Given the description of an element on the screen output the (x, y) to click on. 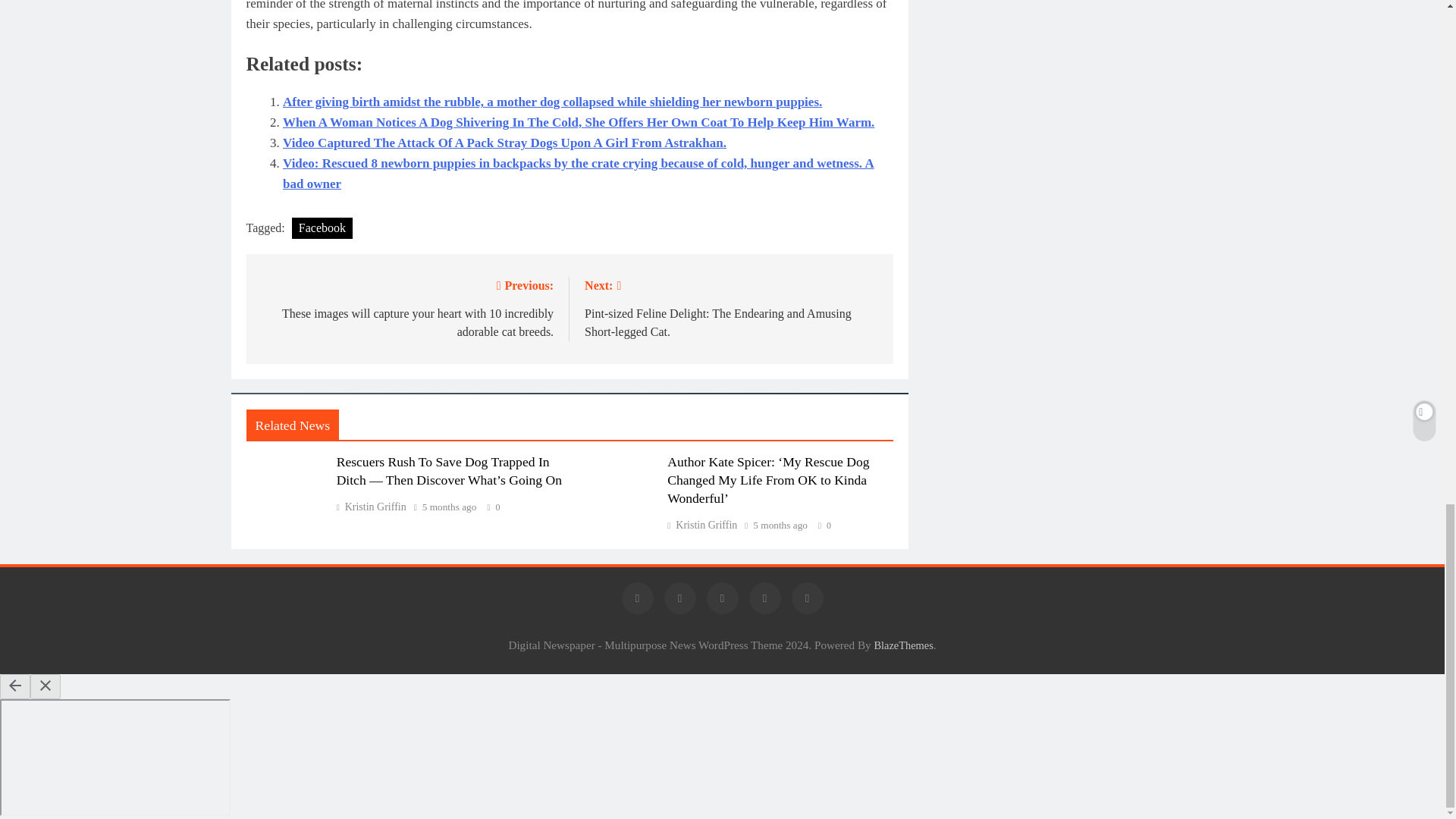
Kristin Griffin (371, 506)
Facebook (322, 228)
5 months ago (449, 507)
